Given the description of an element on the screen output the (x, y) to click on. 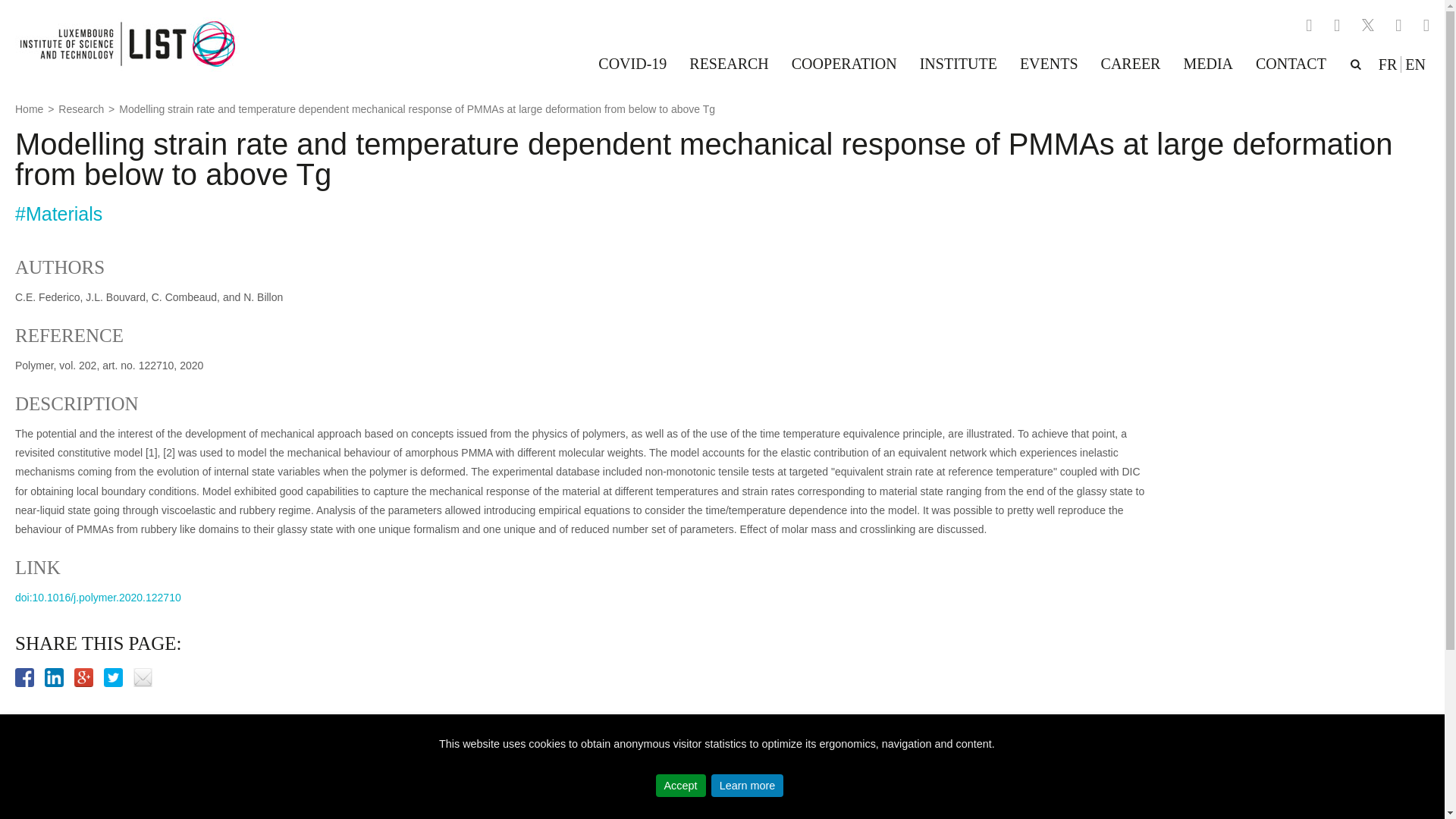
Accept cookies (681, 784)
COVID-19 (632, 63)
Accept (681, 784)
RESEARCH (728, 63)
COOPERATION (844, 63)
FR (1387, 64)
Learn more (747, 784)
EN (1414, 64)
